Given the description of an element on the screen output the (x, y) to click on. 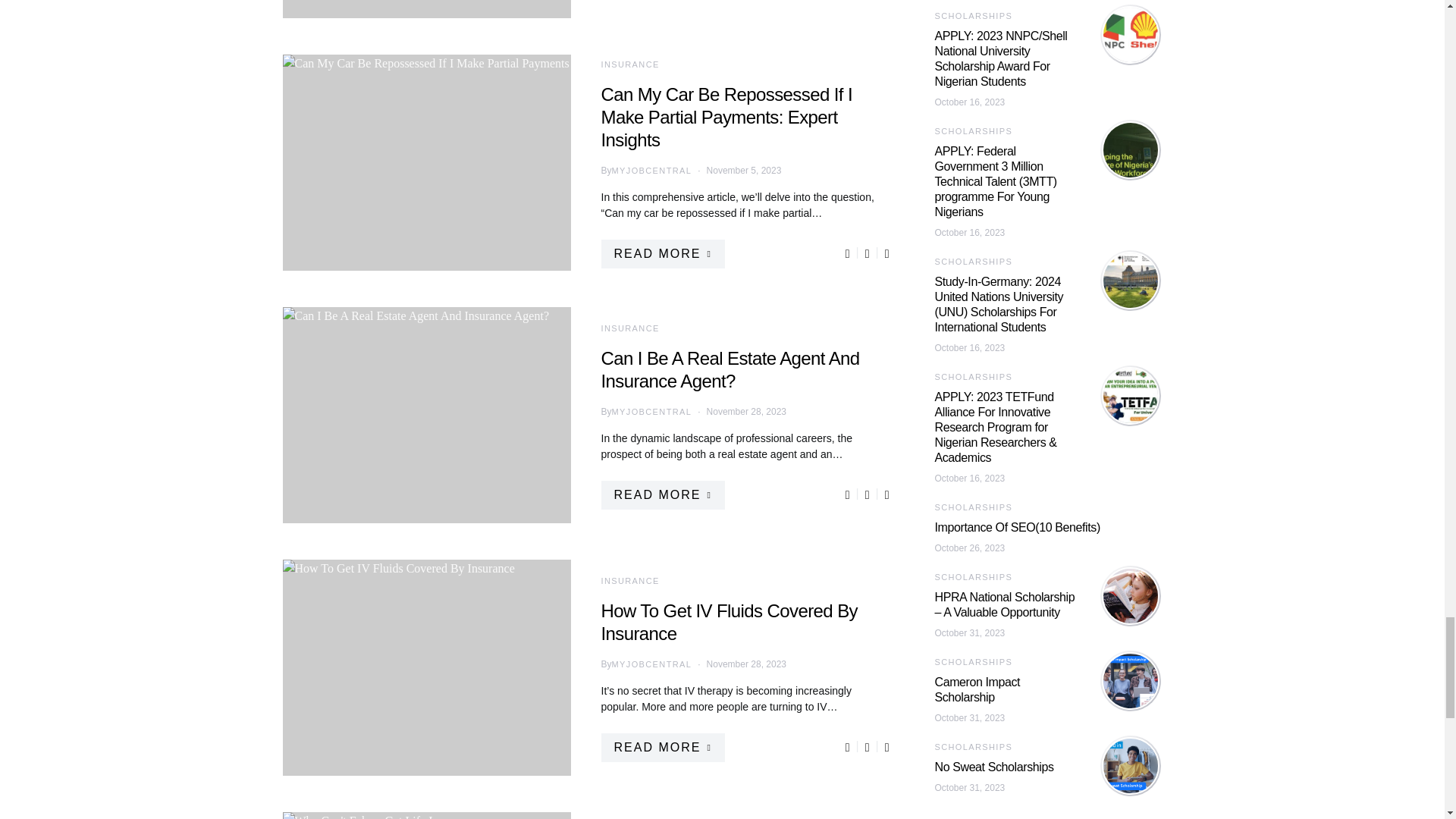
View all posts by myjobcentral (652, 170)
View all posts by myjobcentral (652, 664)
View all posts by myjobcentral (652, 411)
